Given the description of an element on the screen output the (x, y) to click on. 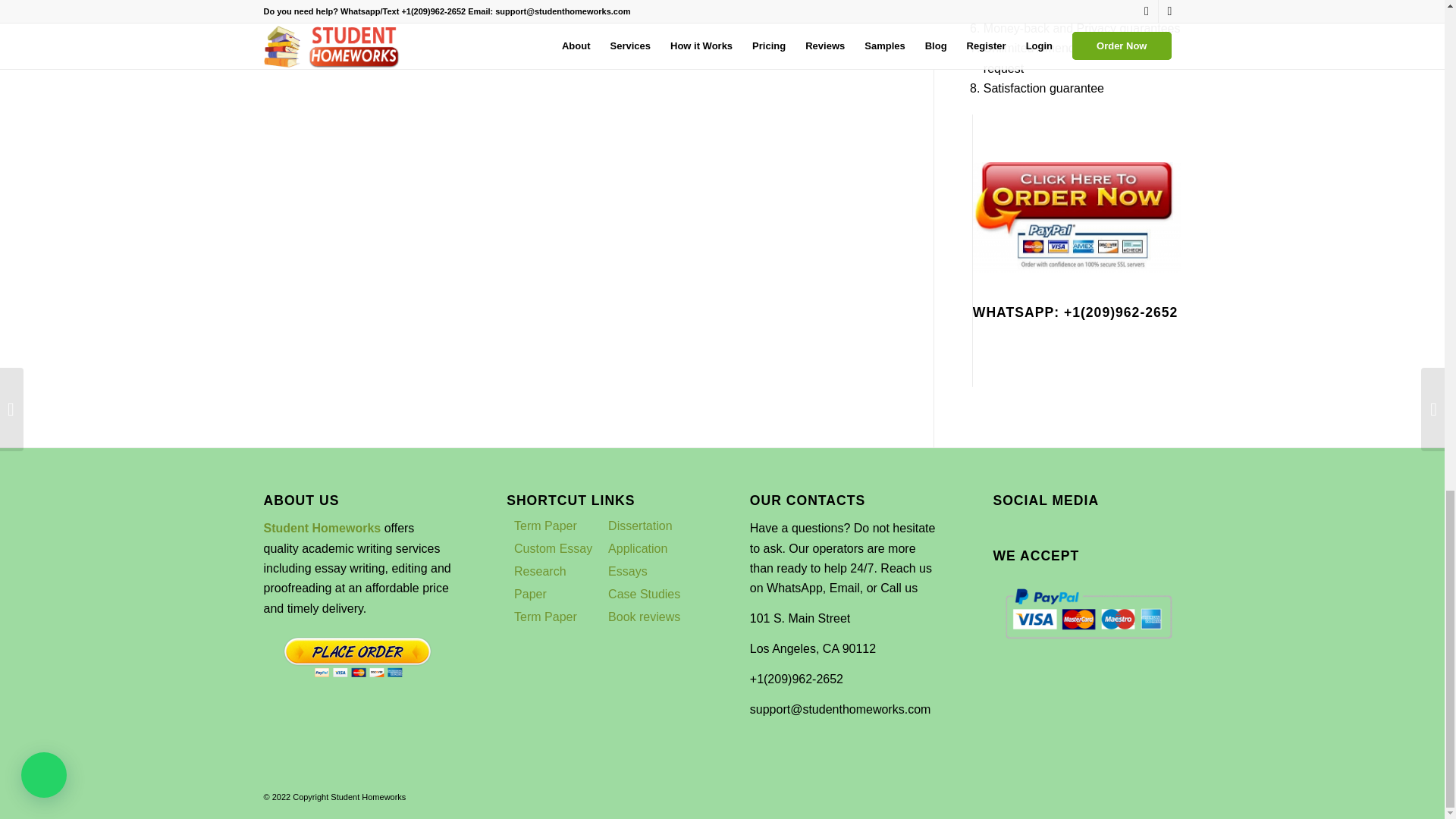
Case Studies (643, 594)
Research Paper (539, 582)
Term Paper (544, 525)
Dissertation (639, 525)
Book reviews (643, 616)
Custom Essay (552, 548)
Application Essays (637, 560)
Term Paper (544, 616)
